Given the description of an element on the screen output the (x, y) to click on. 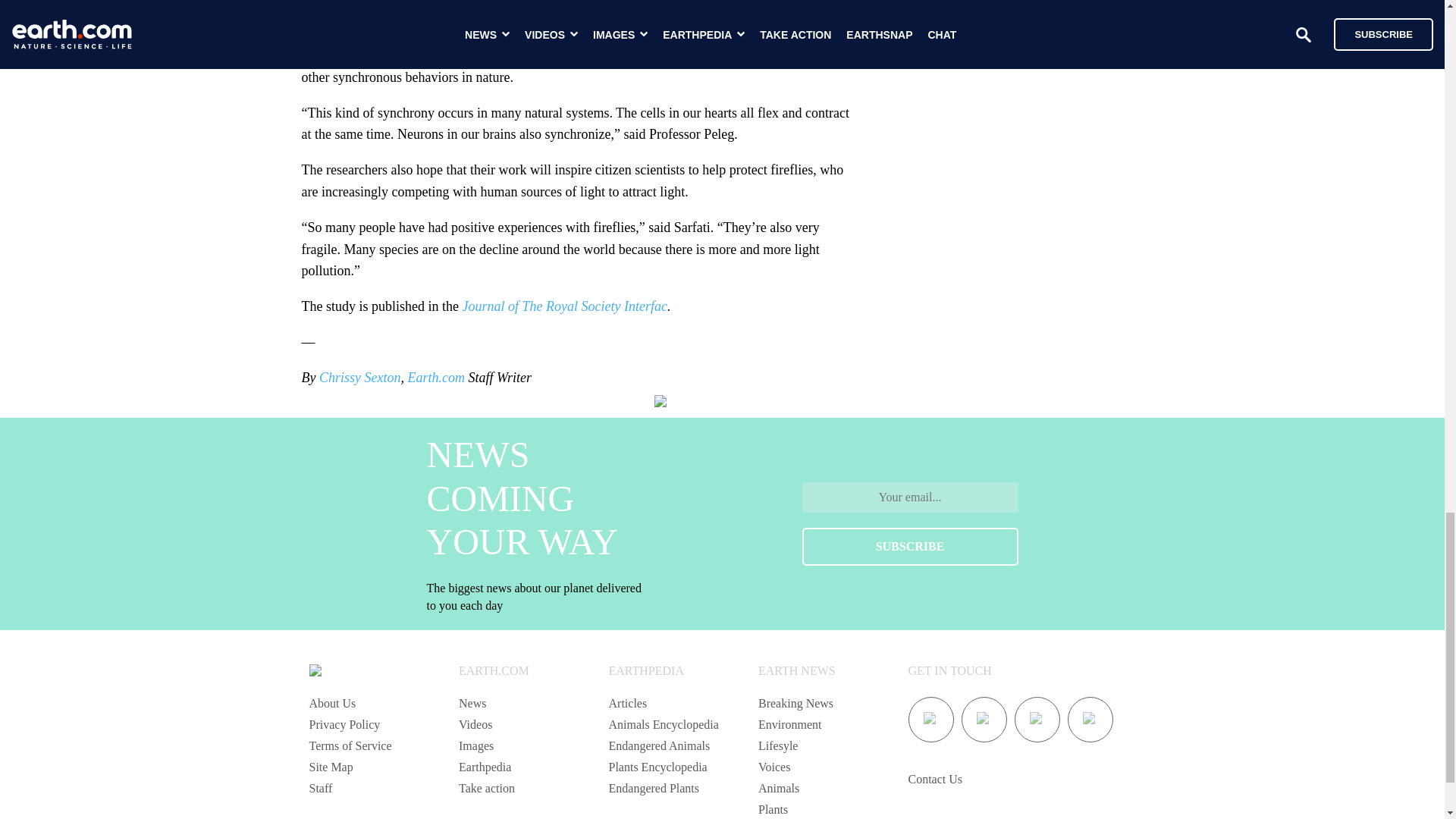
Chrissy Sexton (359, 377)
Journal of The Royal Society Interfac (563, 305)
SUBSCRIBE (909, 546)
Earth.com (435, 377)
